Given the description of an element on the screen output the (x, y) to click on. 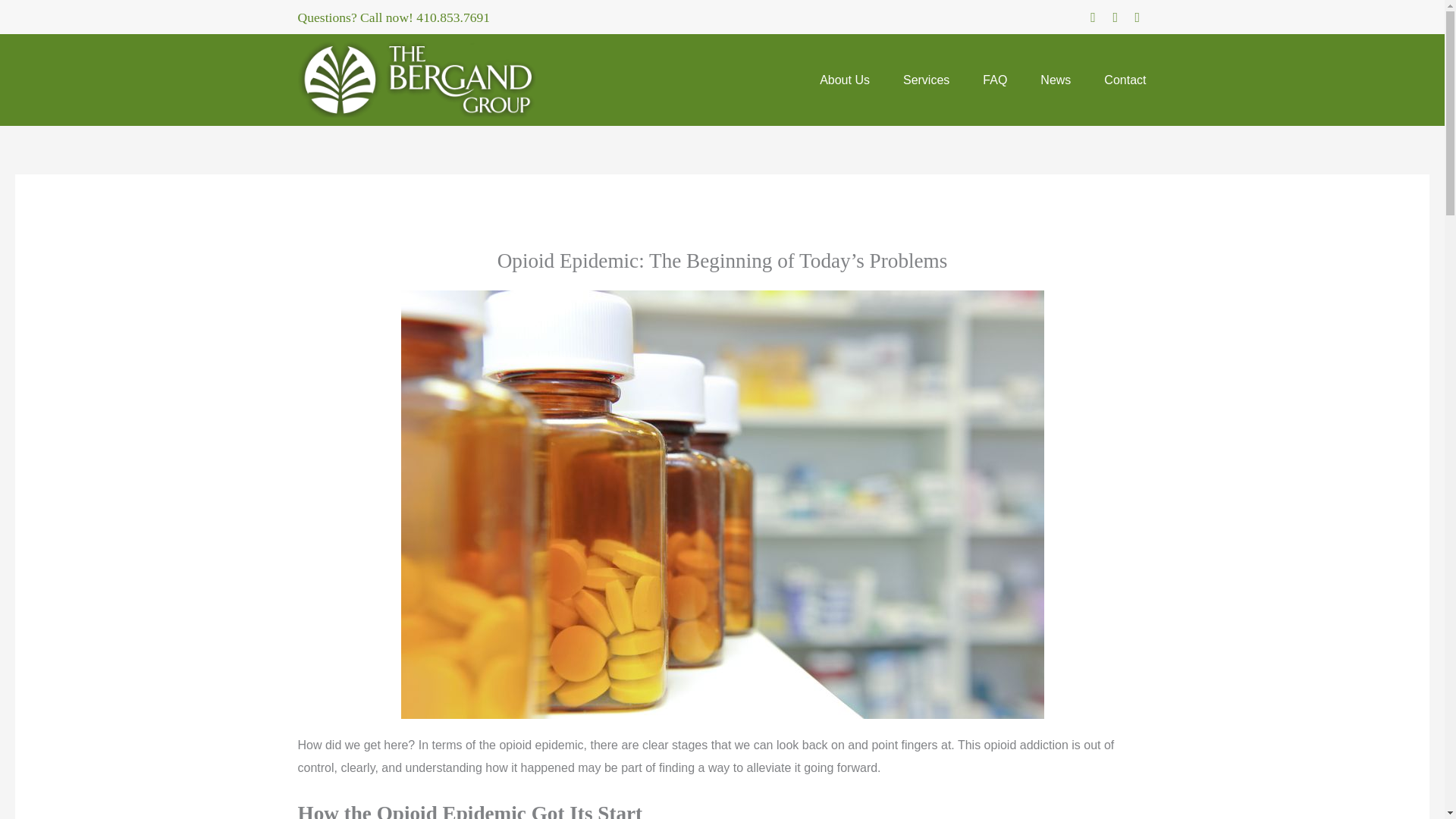
Facebook (1092, 16)
About Us (844, 80)
News (1055, 80)
Contact (1125, 80)
Twitter (1136, 16)
Instagram (1114, 16)
Services (926, 80)
